Given the description of an element on the screen output the (x, y) to click on. 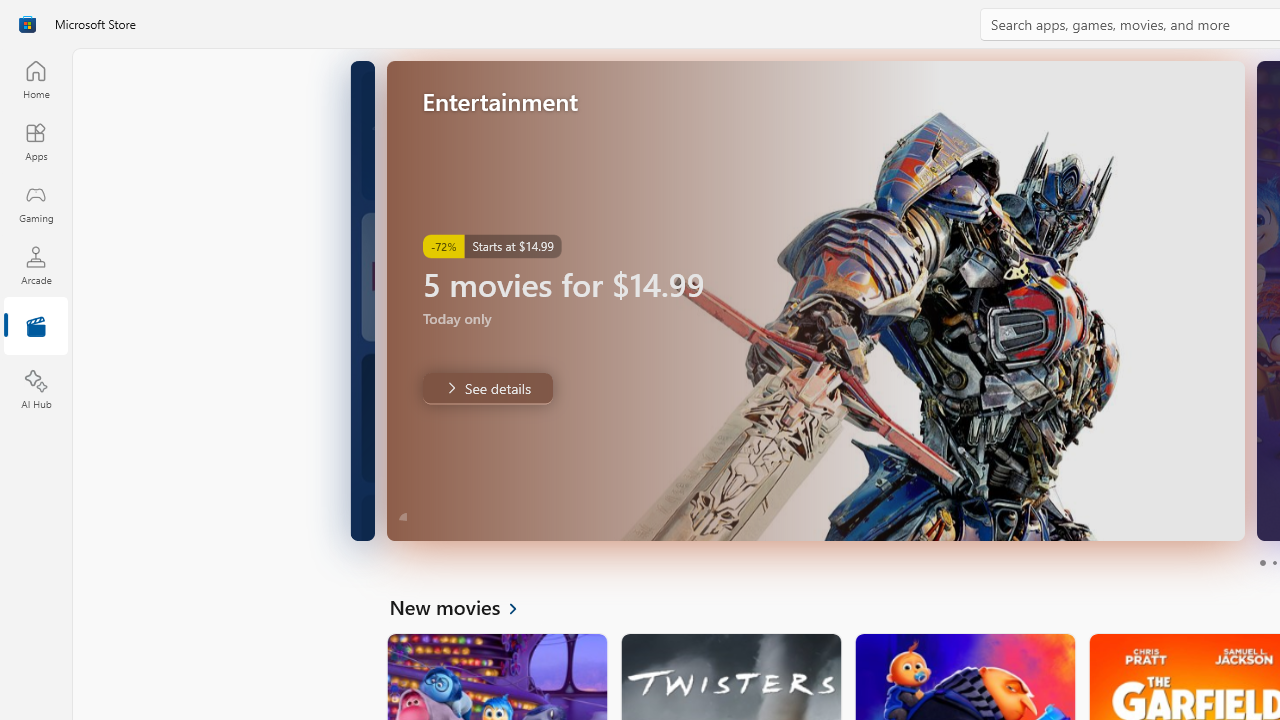
Arcade (35, 265)
Class: Image (27, 24)
AI Hub (35, 390)
Home (35, 79)
Page 2 (1274, 562)
Apps (35, 141)
Entertainment (35, 327)
Page 1 (1261, 562)
Gaming (35, 203)
See all  New movies (464, 606)
AutomationID: Image (815, 300)
